Given the description of an element on the screen output the (x, y) to click on. 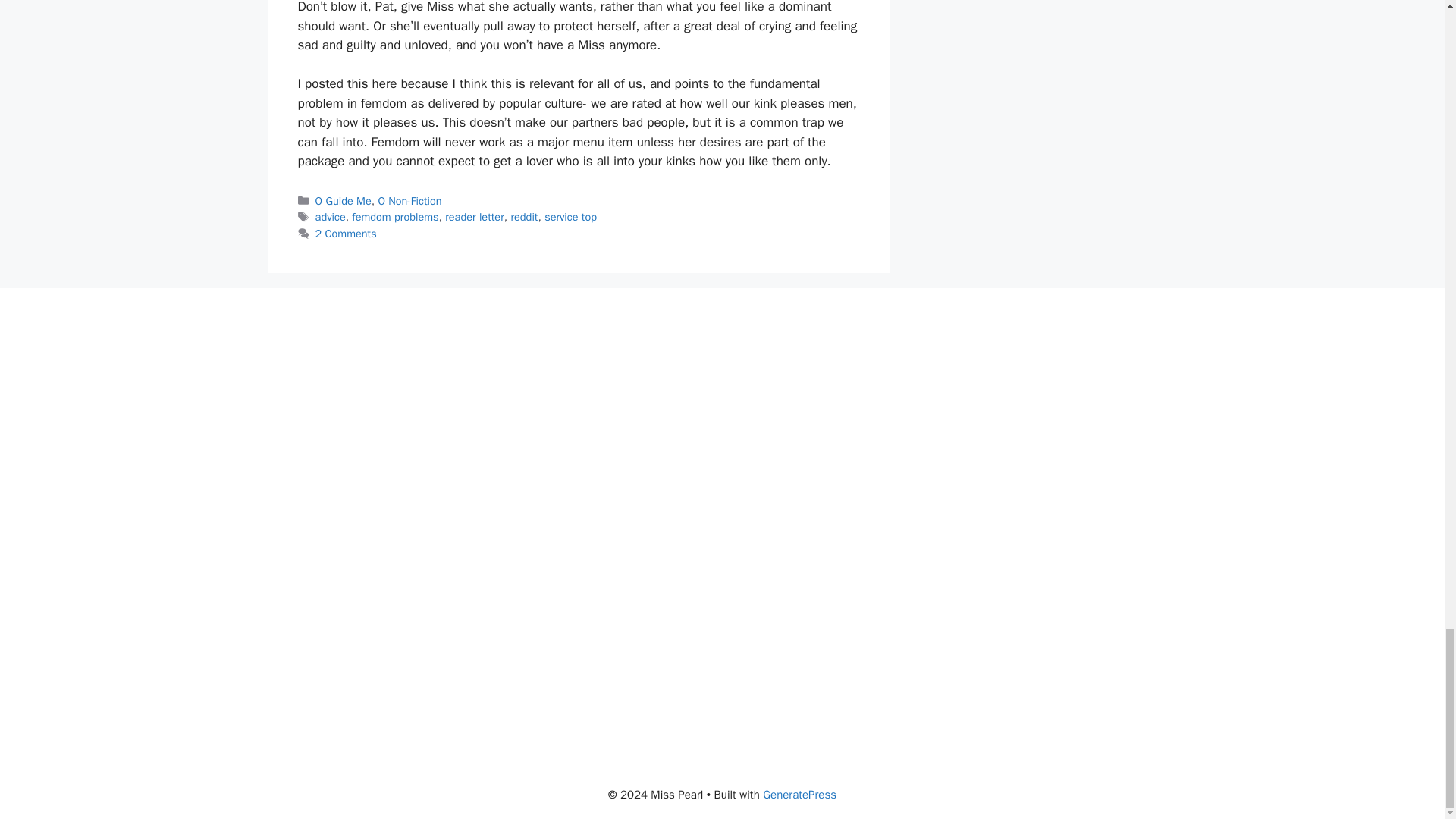
advice (330, 216)
femdom problems (395, 216)
service top (570, 216)
O Guide Me (343, 201)
reddit (524, 216)
O Non-Fiction (409, 201)
reader letter (474, 216)
2 Comments (346, 233)
